Given the description of an element on the screen output the (x, y) to click on. 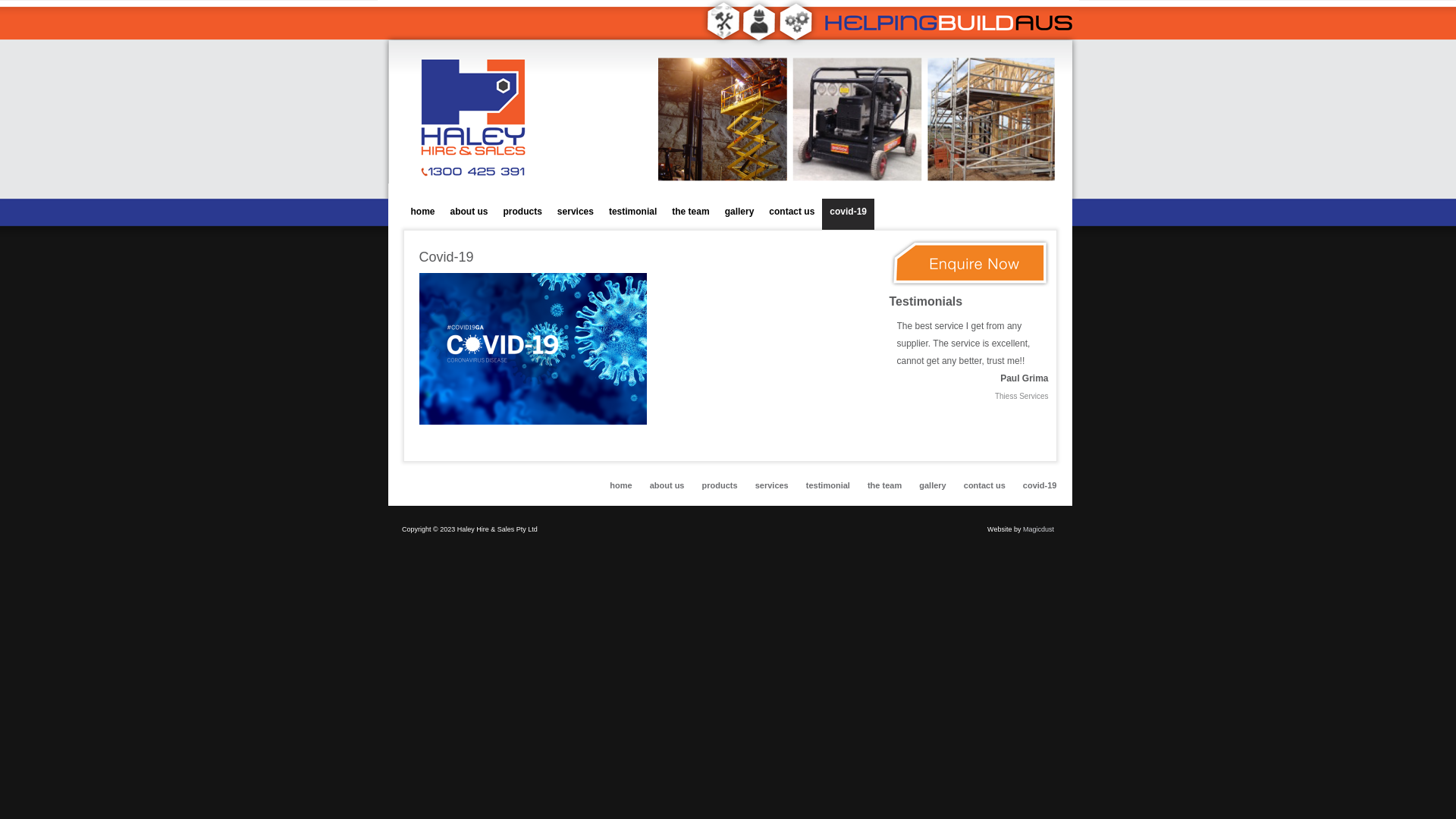
Haley Hire & Sales Pty Ltd Element type: text (737, 99)
the team Element type: text (884, 484)
contact us Element type: text (984, 484)
about us Element type: text (666, 484)
contact us Element type: text (791, 213)
home Element type: text (620, 484)
testimonial Element type: text (828, 484)
covid-19 Element type: text (1039, 484)
testimonial Element type: text (632, 213)
the team Element type: text (690, 213)
covid-19 Element type: text (848, 213)
home Element type: text (422, 213)
products Element type: text (522, 213)
Enquire Now Element type: hover (968, 283)
services Element type: text (575, 213)
about us Element type: text (468, 213)
products Element type: text (719, 484)
Magicdust Element type: text (1038, 529)
gallery Element type: text (932, 484)
services Element type: text (771, 484)
gallery Element type: text (739, 213)
